Given the description of an element on the screen output the (x, y) to click on. 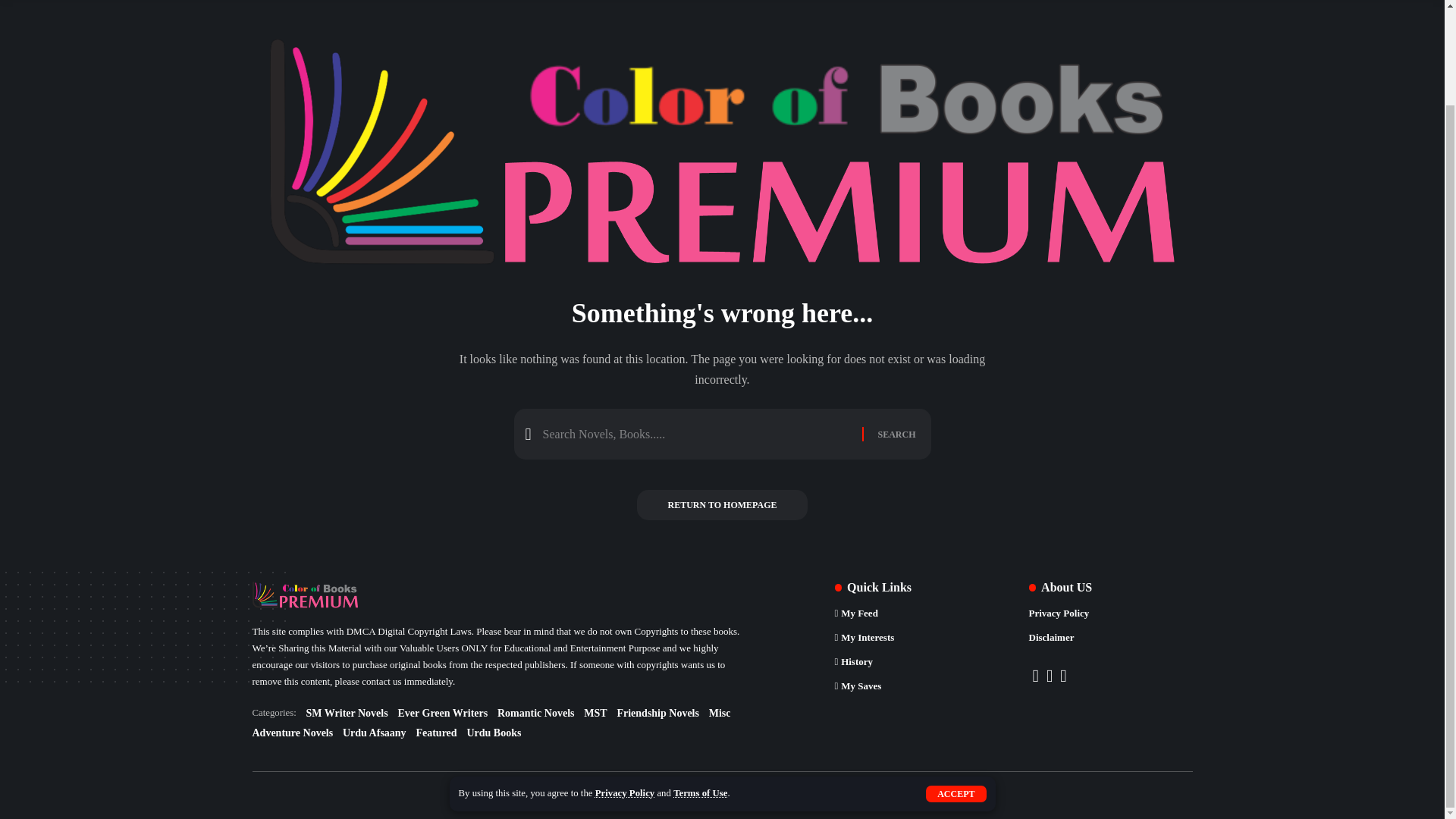
Search (895, 433)
Terms of Use (699, 683)
Privacy Policy (625, 683)
ACCEPT (955, 683)
